Given the description of an element on the screen output the (x, y) to click on. 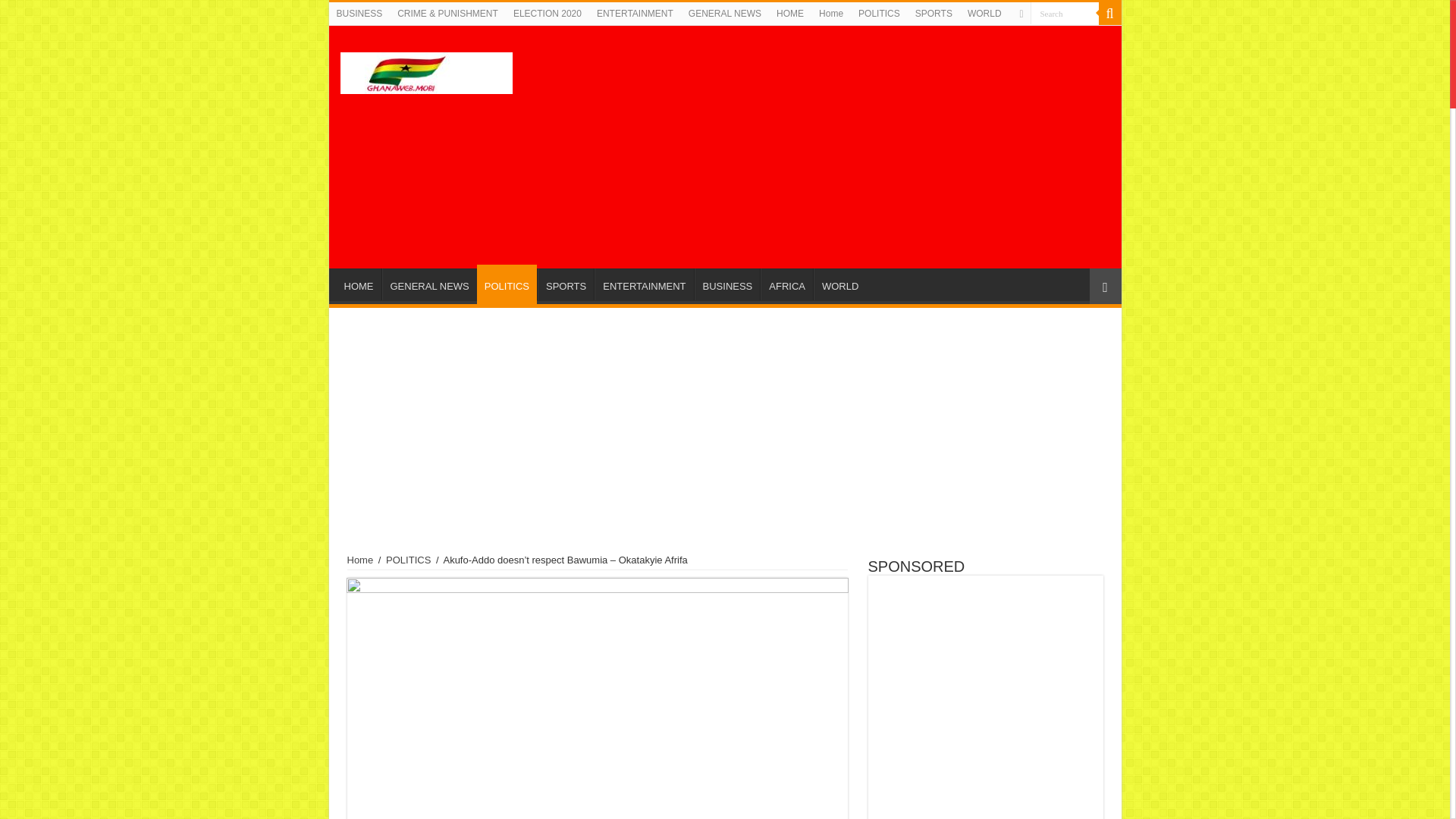
ENTERTAINMENT (635, 13)
Search (1063, 13)
Search (1109, 13)
ENTERTAINMENT (643, 284)
Home Of Ghana News (425, 70)
SPORTS (933, 13)
HOME (789, 13)
POLITICS (878, 13)
ELECTION 2020 (547, 13)
BUSINESS (727, 284)
WORLD (839, 284)
SPORTS (565, 284)
Search (1063, 13)
HOME (358, 284)
Home (360, 559)
